Given the description of an element on the screen output the (x, y) to click on. 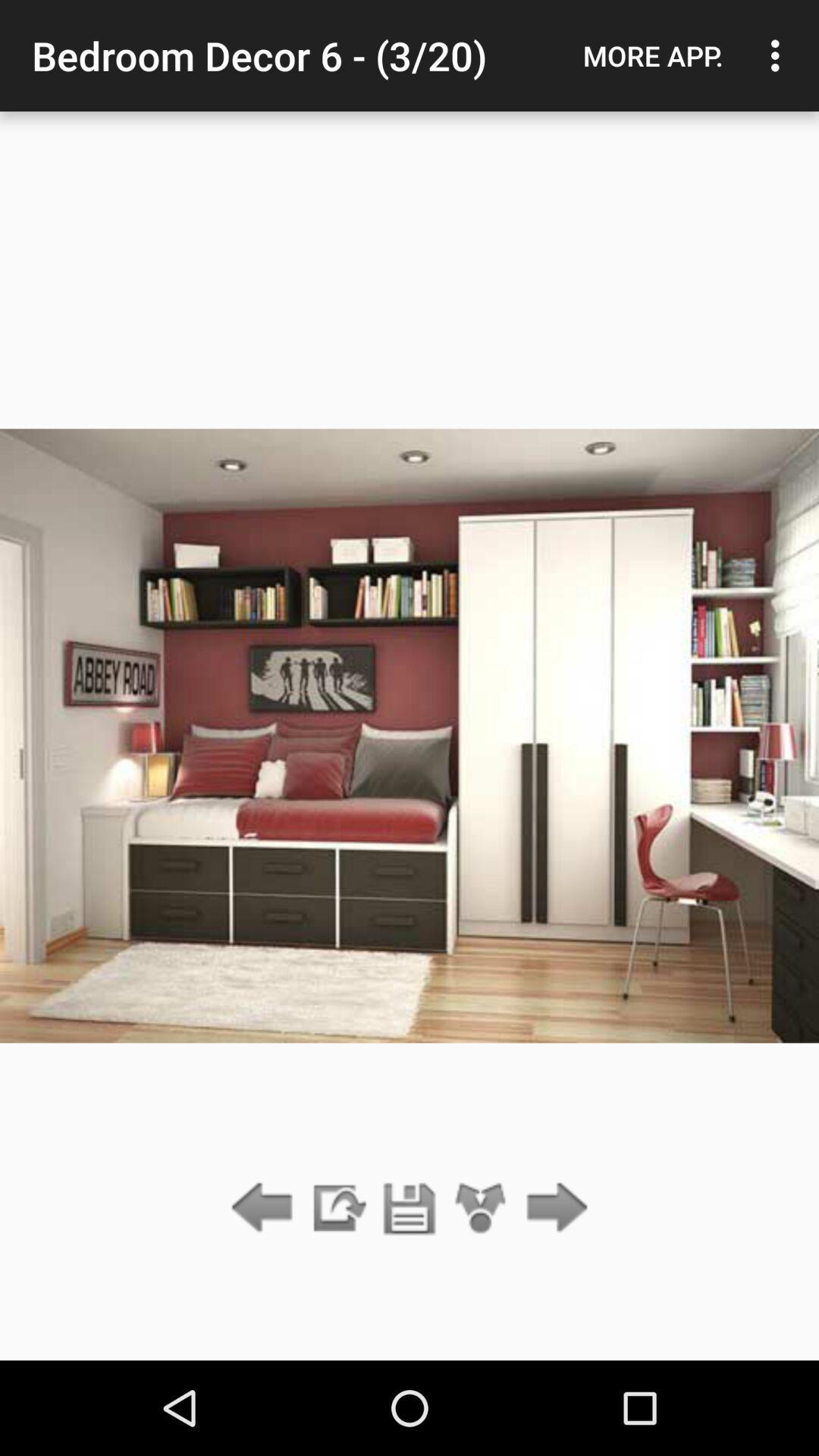
launch the icon next to bedroom decor 6 app (653, 55)
